Given the description of an element on the screen output the (x, y) to click on. 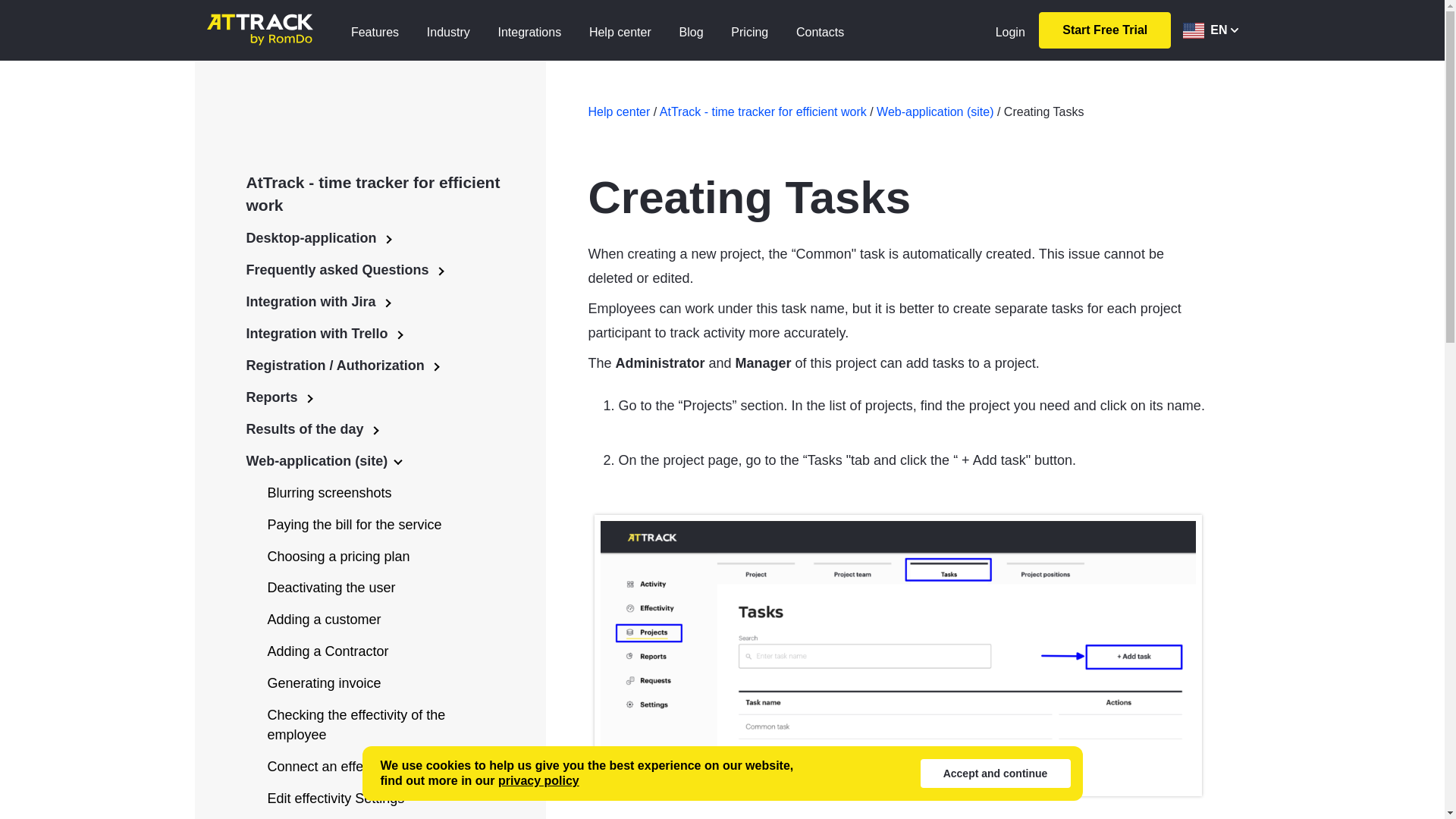
Login (1010, 30)
Help center (619, 30)
Blog (691, 30)
Integrations (529, 30)
Contacts (820, 30)
Features (374, 30)
Industry (448, 30)
Pricing (749, 30)
Start Free Trial (1104, 30)
English US (1193, 30)
